Given the description of an element on the screen output the (x, y) to click on. 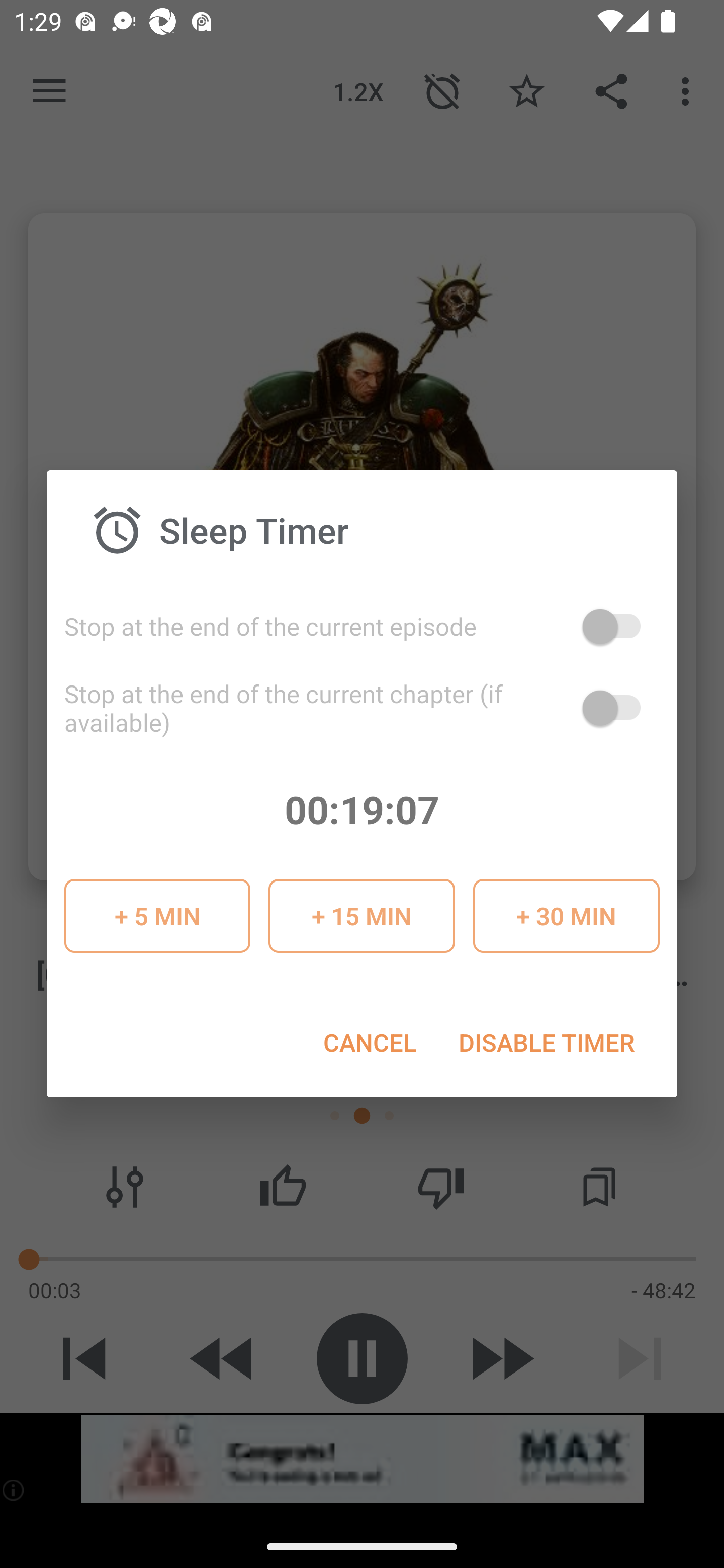
Stop at the end of the current episode (361, 626)
+ 5 MIN (157, 916)
+ 15 MIN (361, 916)
+ 30 MIN (565, 916)
CANCEL (369, 1042)
DISABLE TIMER (546, 1042)
